Given the description of an element on the screen output the (x, y) to click on. 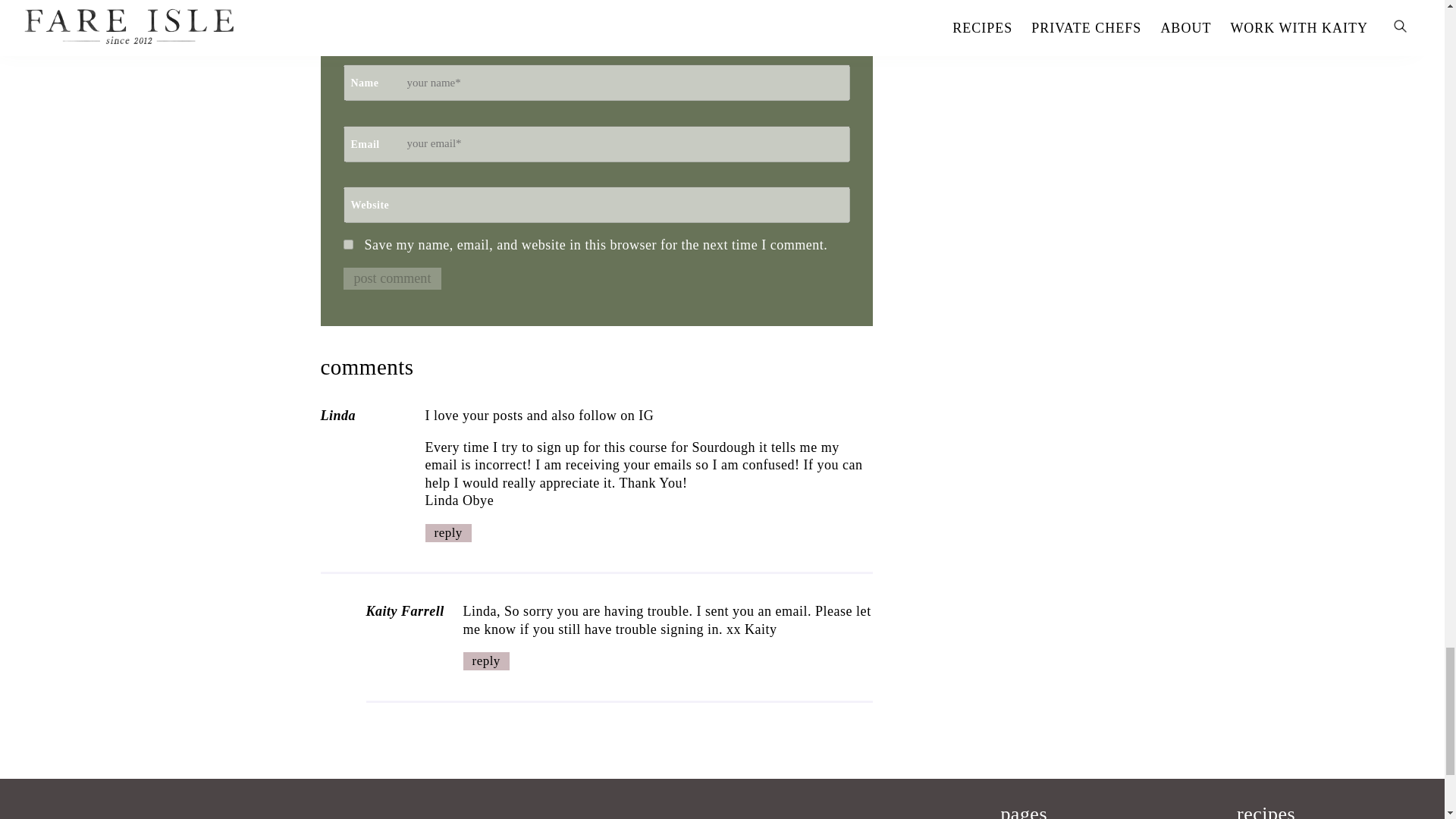
Post Comment (391, 278)
reply (447, 533)
yes (347, 244)
Post Comment (391, 278)
reply (485, 660)
